Given the description of an element on the screen output the (x, y) to click on. 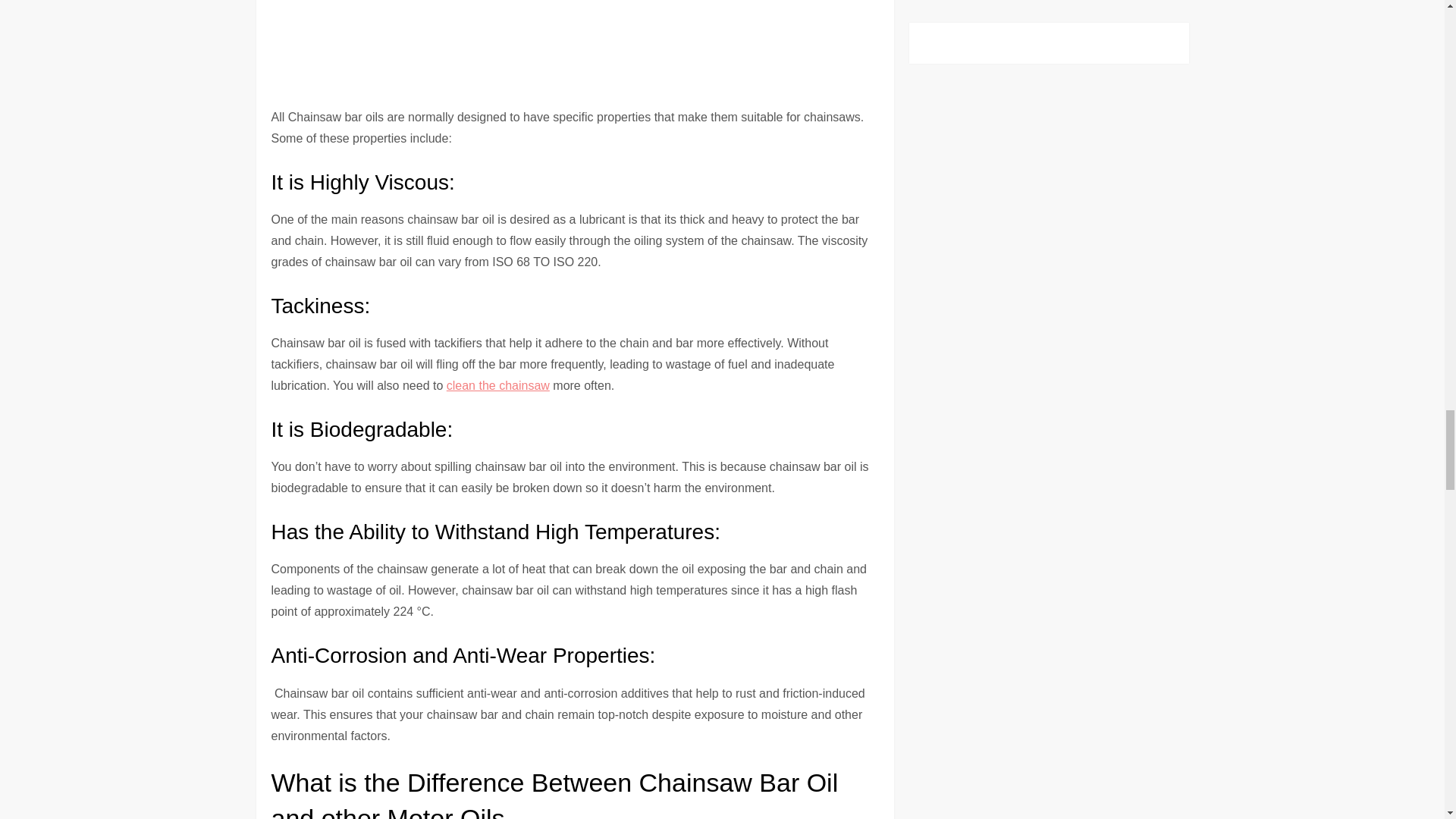
clean the chainsaw (498, 385)
